Given the description of an element on the screen output the (x, y) to click on. 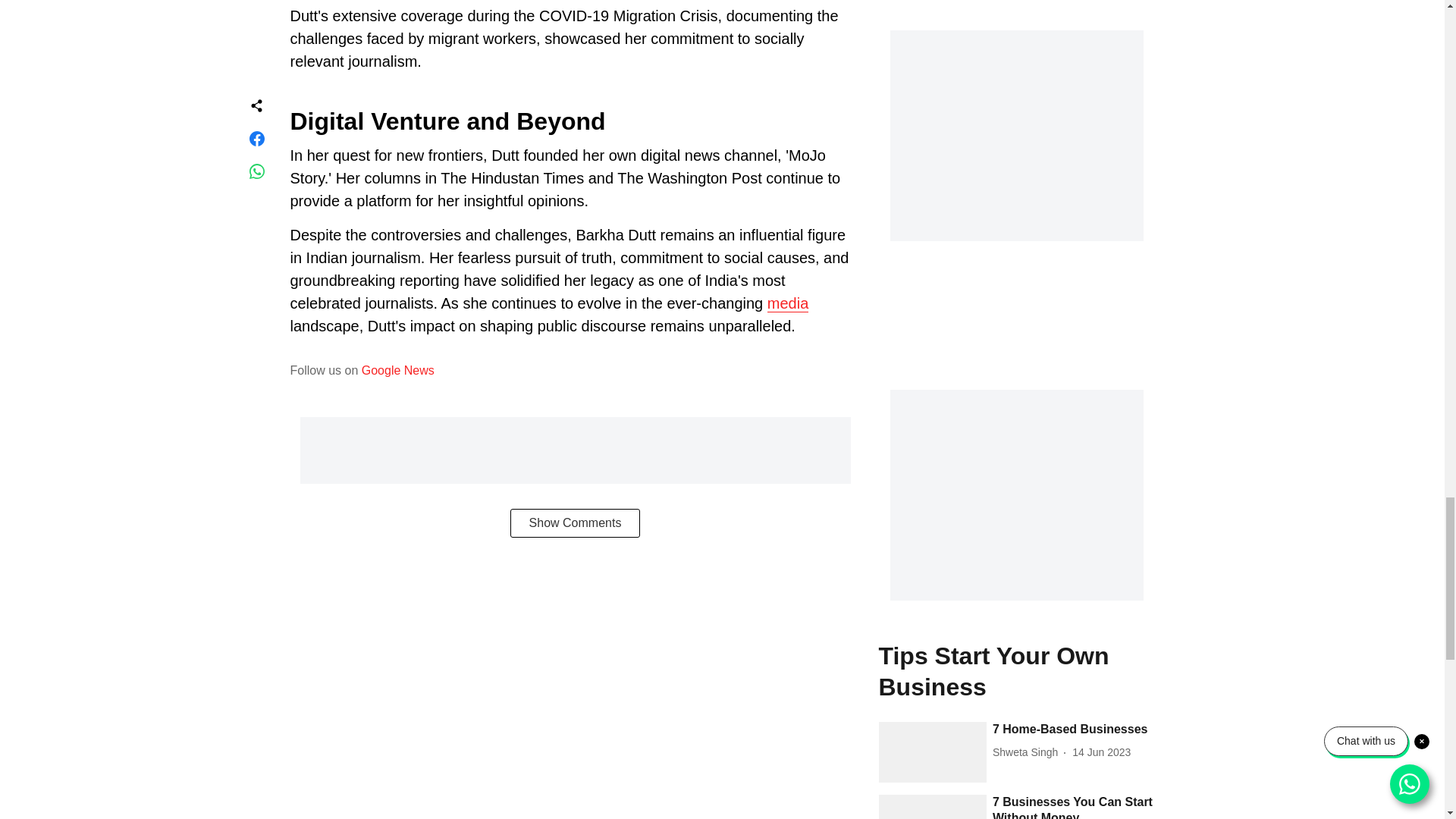
Google News (397, 369)
2023-06-14 05:42 (1101, 752)
Show Comments (575, 522)
media (787, 303)
